Given the description of an element on the screen output the (x, y) to click on. 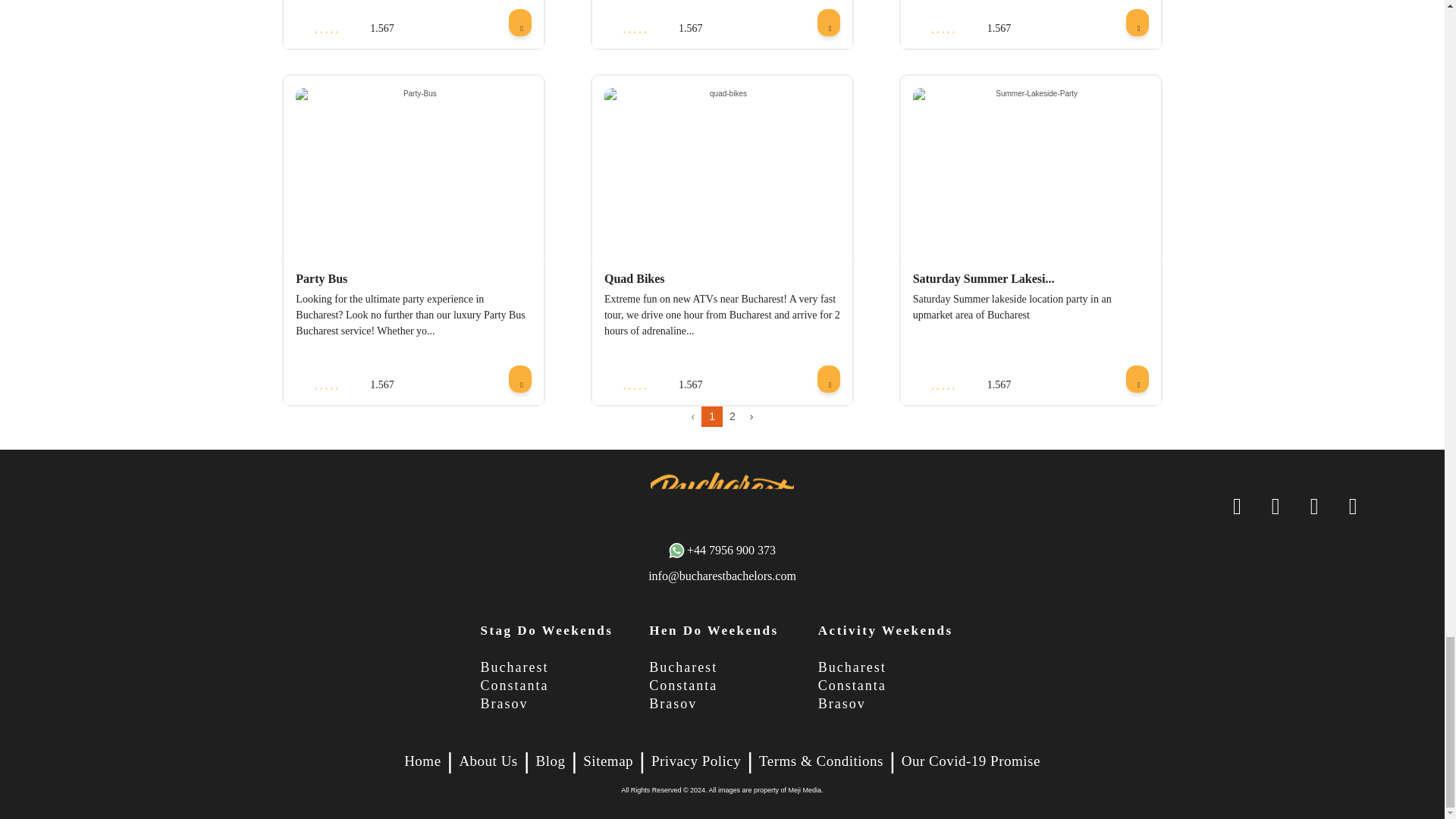
Home (422, 761)
phone (1353, 507)
Sitemap (608, 761)
page (695, 761)
About Us (487, 761)
blog (550, 761)
phone (722, 550)
email (721, 576)
page (971, 761)
page (820, 761)
